Given the description of an element on the screen output the (x, y) to click on. 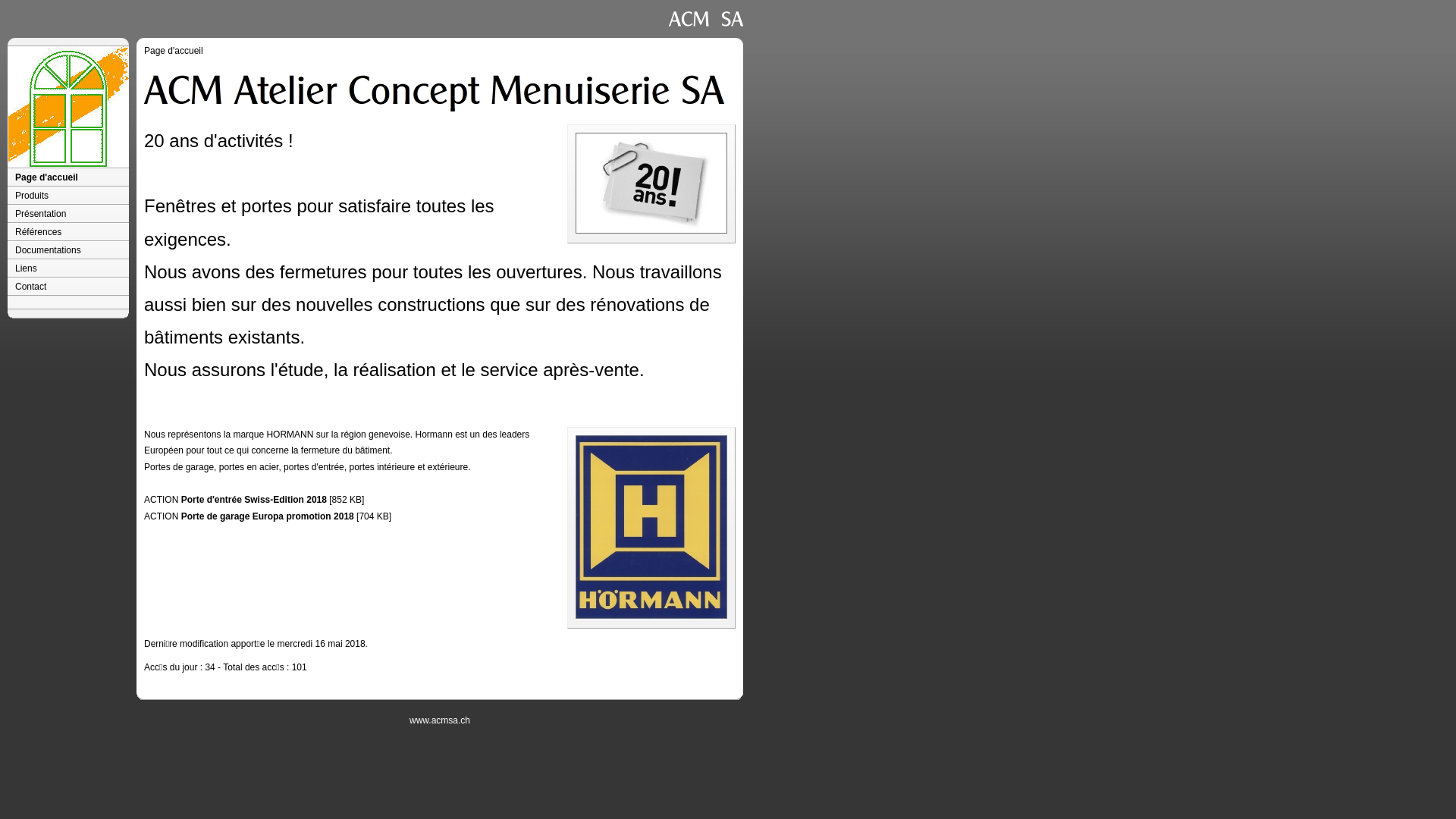
Page d'accueil Element type: text (173, 50)
Liens Element type: text (67, 268)
Page d'accueil Element type: text (67, 177)
Contact Element type: text (67, 286)
Produits Element type: text (67, 195)
Porte de garage Europa promotion 2018 Element type: text (267, 516)
Documentations Element type: text (67, 250)
